Given the description of an element on the screen output the (x, y) to click on. 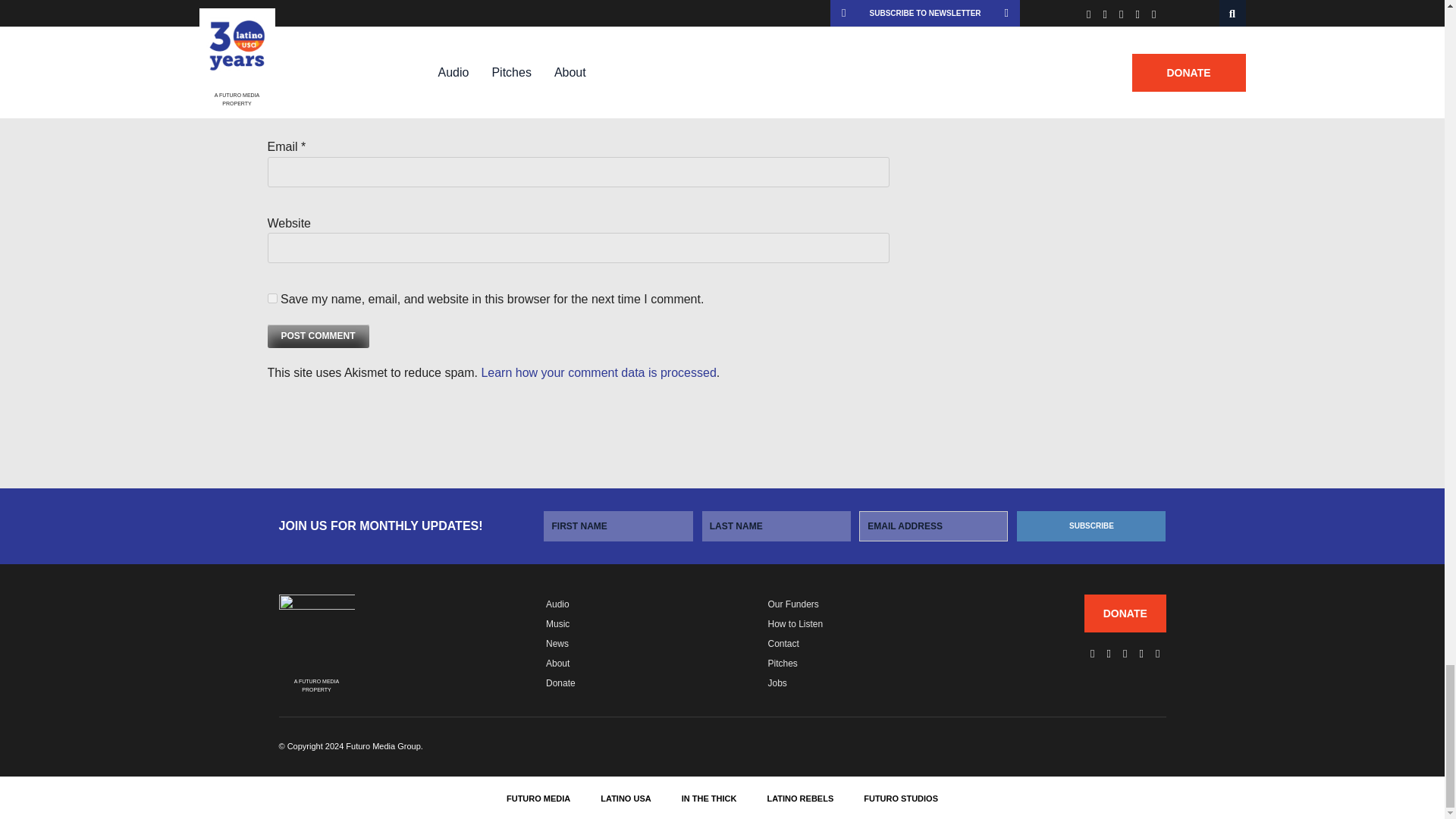
Subscribe (1091, 526)
yes (271, 298)
Post Comment (317, 336)
